Given the description of an element on the screen output the (x, y) to click on. 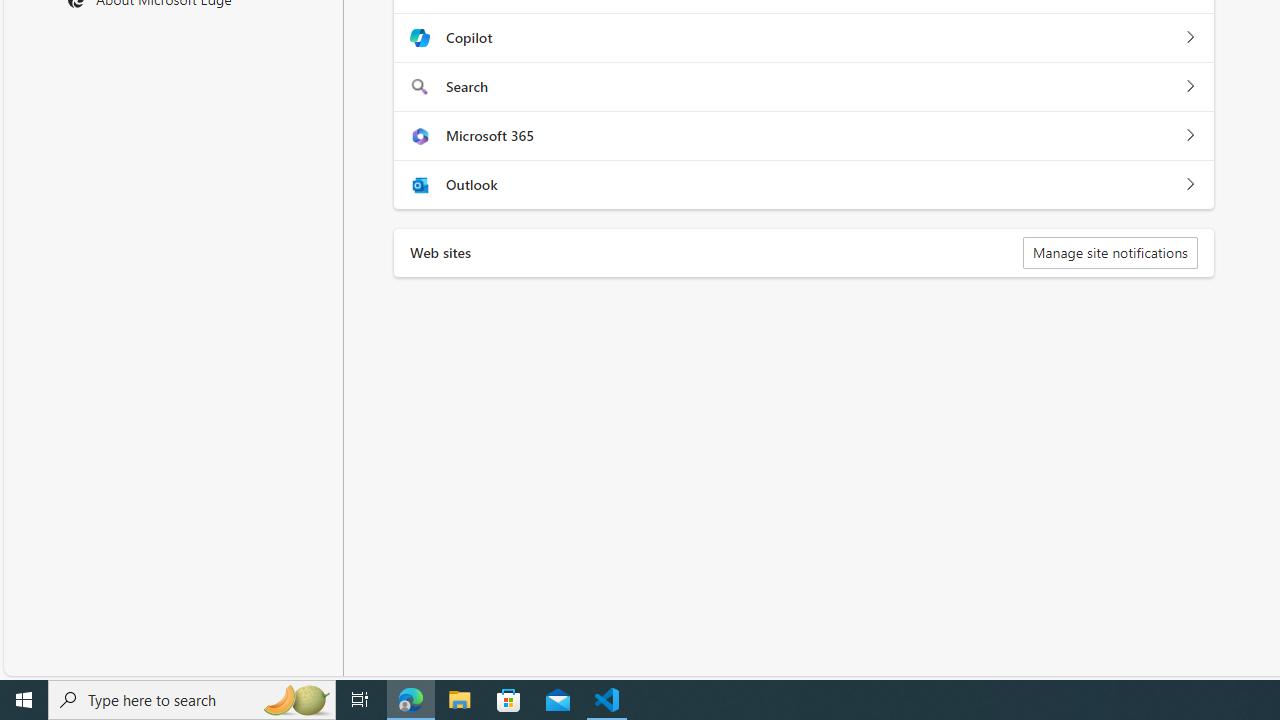
Copilot (1190, 38)
Manage site notifications (1109, 252)
